Given the description of an element on the screen output the (x, y) to click on. 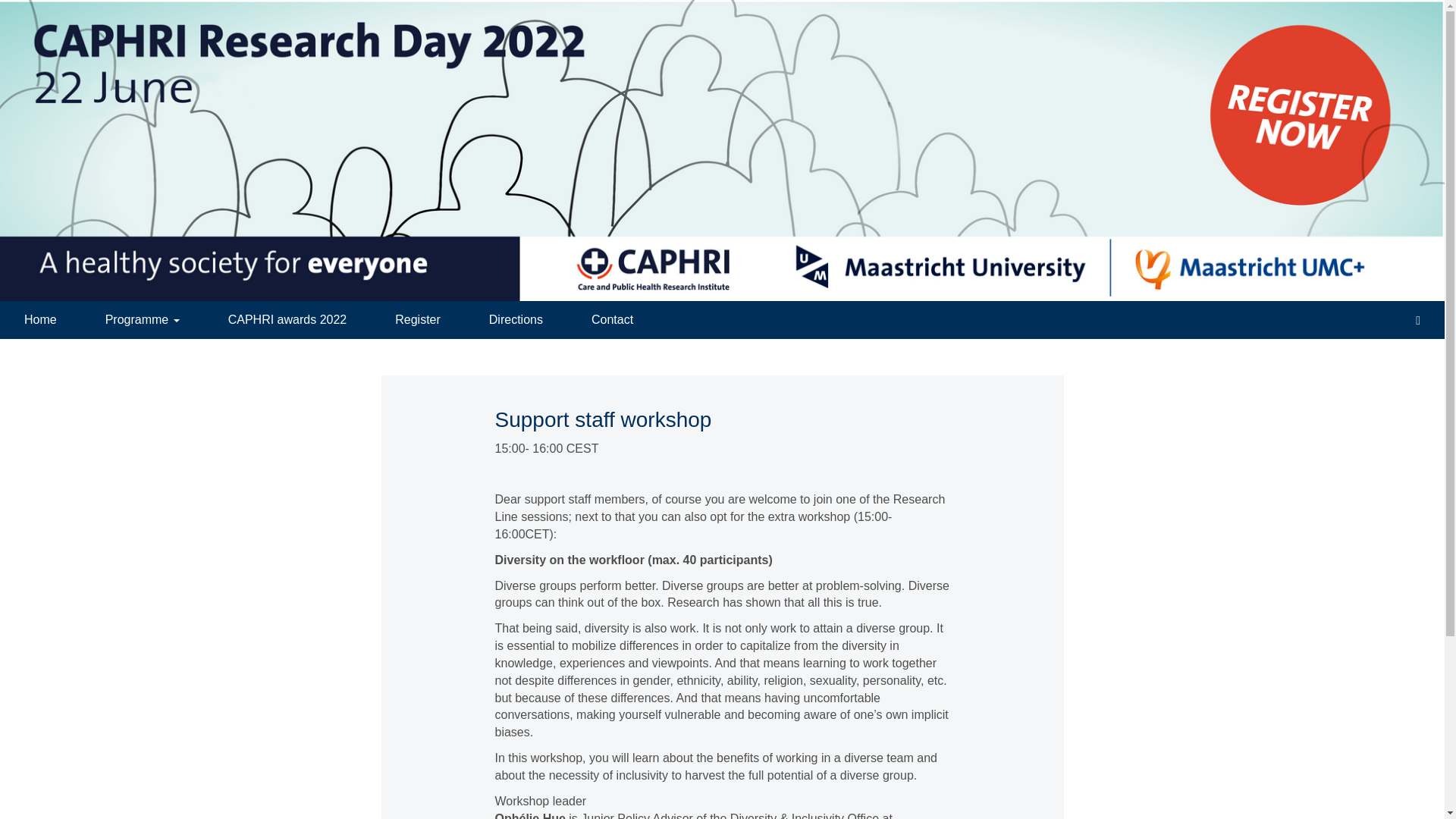
Home (40, 320)
CAPHRI awards 2022 (287, 320)
Contact (612, 320)
Programme (142, 320)
Register (417, 320)
Directions (515, 320)
